Given the description of an element on the screen output the (x, y) to click on. 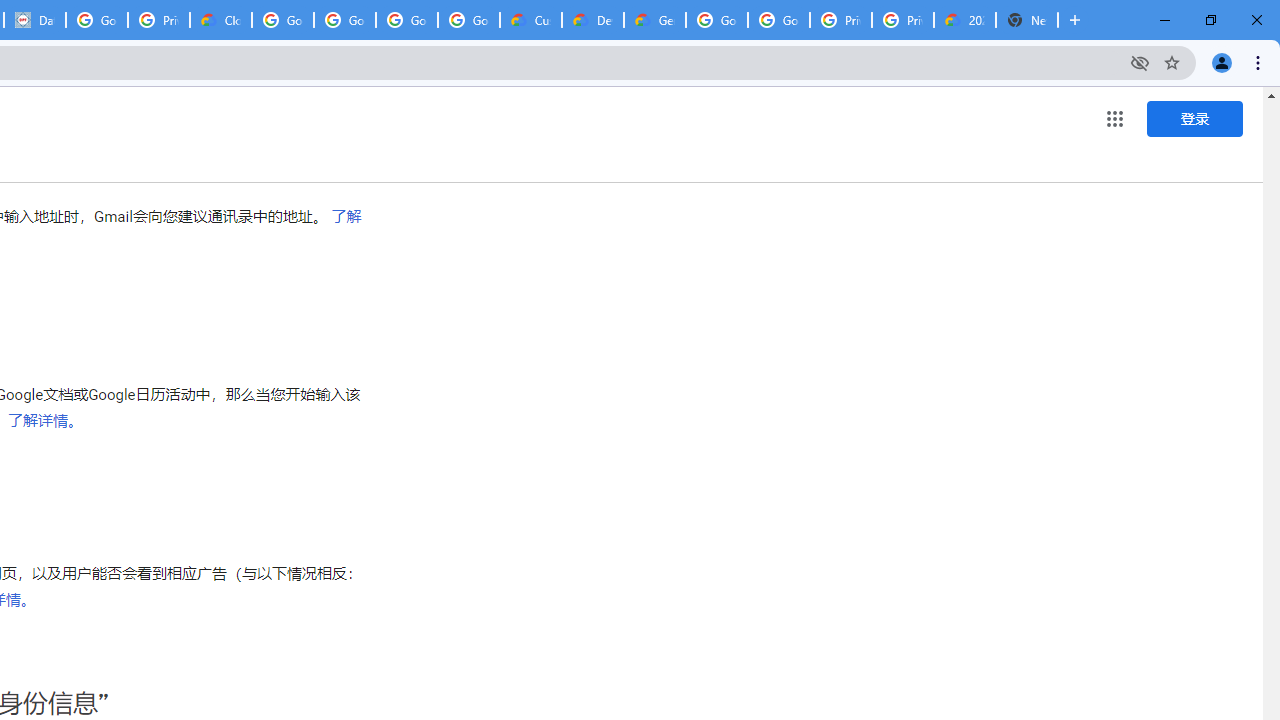
Customer Care | Google Cloud (530, 20)
Gemini for Business and Developers | Google Cloud (654, 20)
Google Workspace - Specific Terms (406, 20)
Google Cloud Platform (716, 20)
Google Cloud Platform (778, 20)
Cloud Data Processing Addendum | Google Cloud (220, 20)
